Given the description of an element on the screen output the (x, y) to click on. 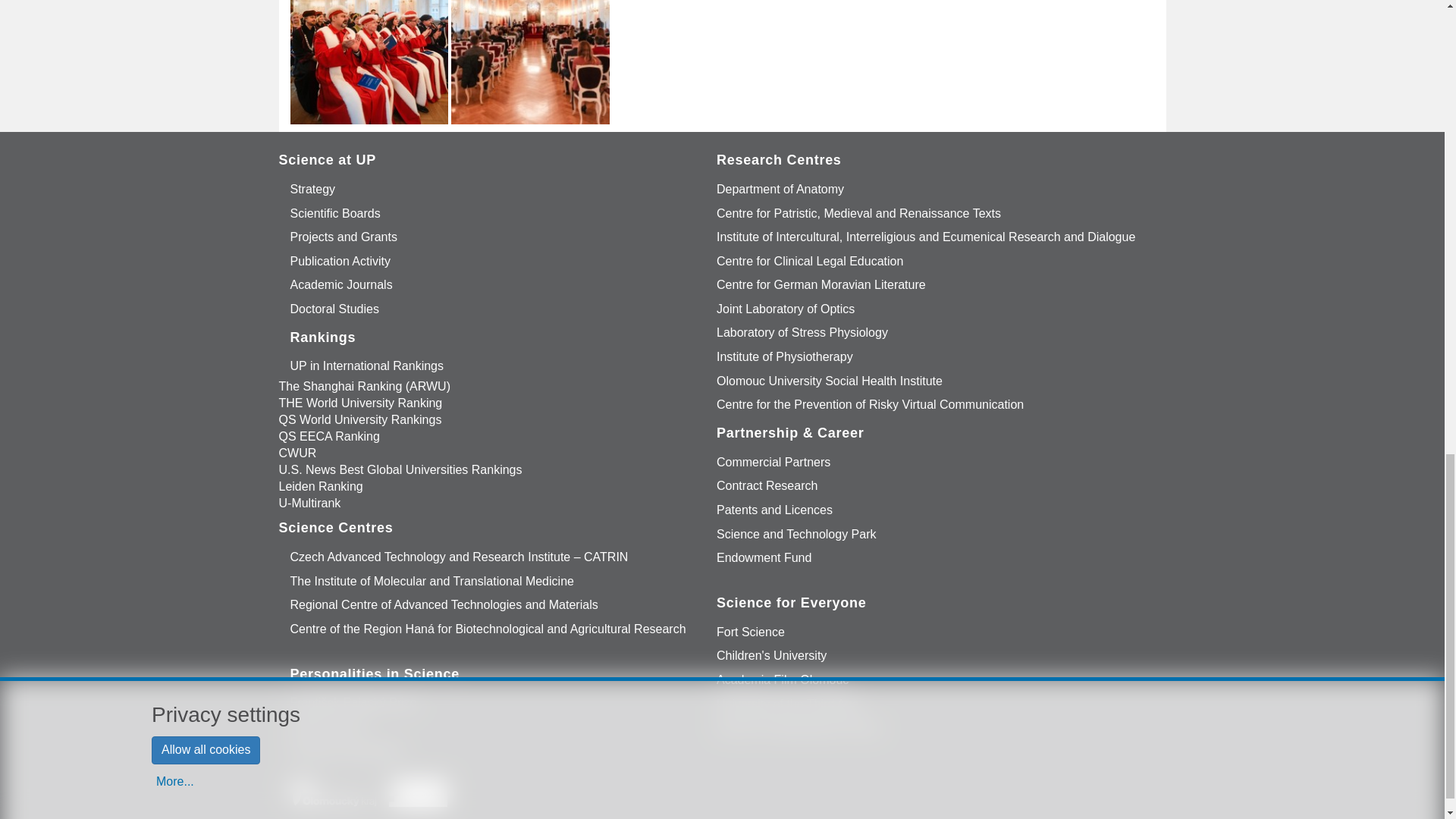
Academic Journals (341, 284)
Doctoral Studies (334, 309)
UP in International Rankings (367, 366)
Strategy (313, 189)
Publication Activity (341, 261)
The Institute of Molecular and Translational Medicine (432, 581)
Regional Centre of Advanced Technologies and Materials (444, 604)
Opens internal link in current window (344, 237)
Opens internal link in current window (313, 189)
Projects and Grants (344, 237)
